Given the description of an element on the screen output the (x, y) to click on. 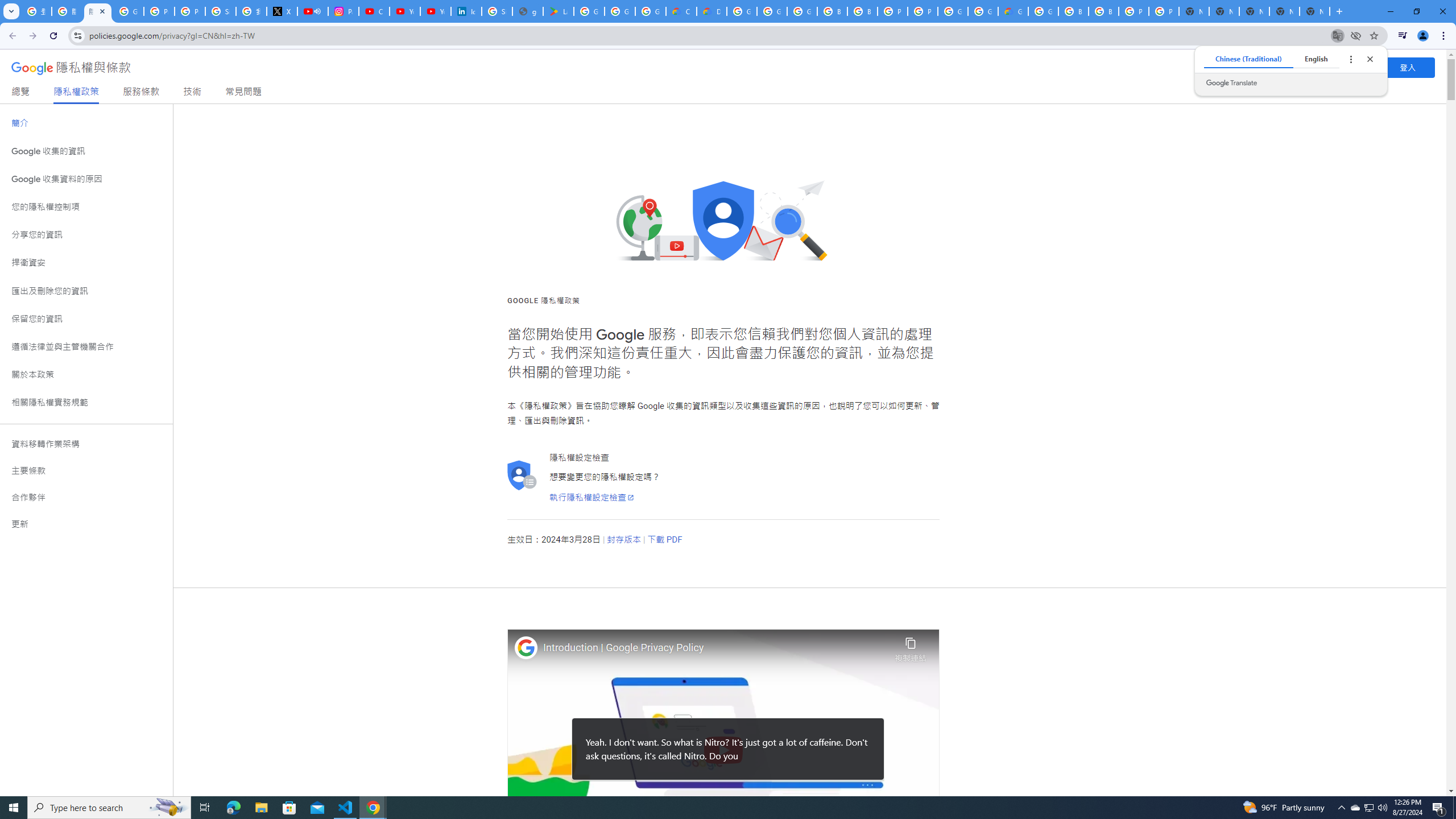
Google Cloud Platform (1042, 11)
